Given the description of an element on the screen output the (x, y) to click on. 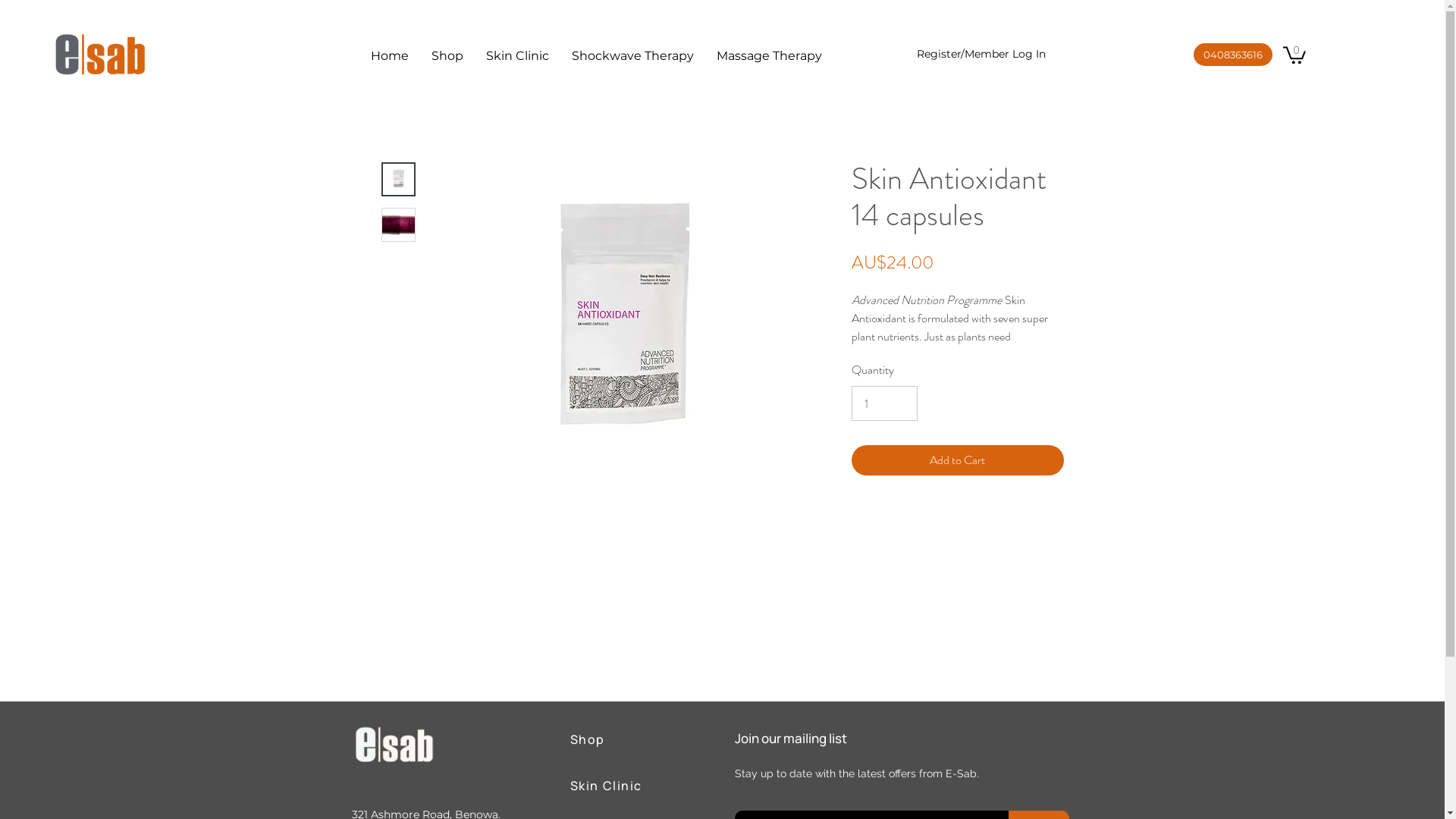
0408363616 Element type: text (1232, 54)
Skin Clinic Element type: text (609, 785)
Shop Element type: text (609, 739)
Massage Therapy Element type: text (769, 55)
Register/Member Log In Element type: text (967, 54)
Home Element type: text (389, 55)
Shop Element type: text (447, 55)
0 Element type: text (1294, 53)
Add to Cart Element type: text (956, 460)
e-sab logo.png Element type: hover (99, 53)
Shockwave Therapy Element type: text (631, 55)
